Given the description of an element on the screen output the (x, y) to click on. 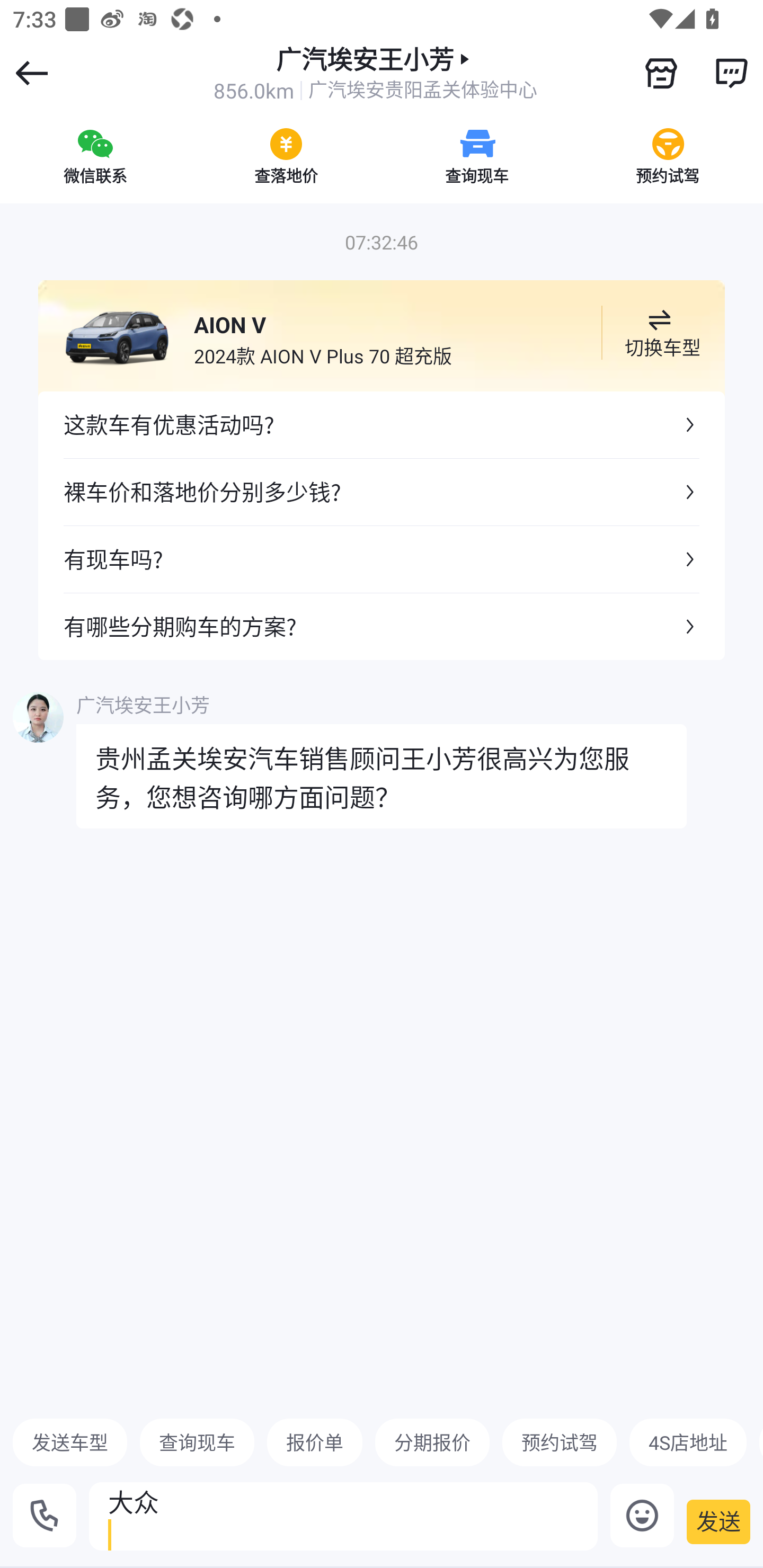
广汽埃安王小芳 856.0km 广汽埃安贵阳孟关体验中心 (374, 73)
 (730, 72)
 (661, 73)
微信联系 (95, 155)
查落地价 (285, 155)
查询现车 (476, 155)
预约试驾 (667, 155)
切换车型 (659, 332)
这款车有优惠活动吗? (381, 424)
裸车价和落地价分别多少钱? (381, 492)
有现车吗? (381, 558)
有哪些分期购车的方案? (381, 626)
贵州孟关埃安汽车销售顾问王小芳很高兴为您服务，您想咨询哪方面问题？ (381, 775)
发送车型 (69, 1442)
查询现车 (196, 1442)
报价单 (314, 1442)
分期报价 (432, 1442)
预约试驾 (559, 1442)
4S店地址 (687, 1442)
大众
 (343, 1515)
发送 (718, 1521)
